Given the description of an element on the screen output the (x, y) to click on. 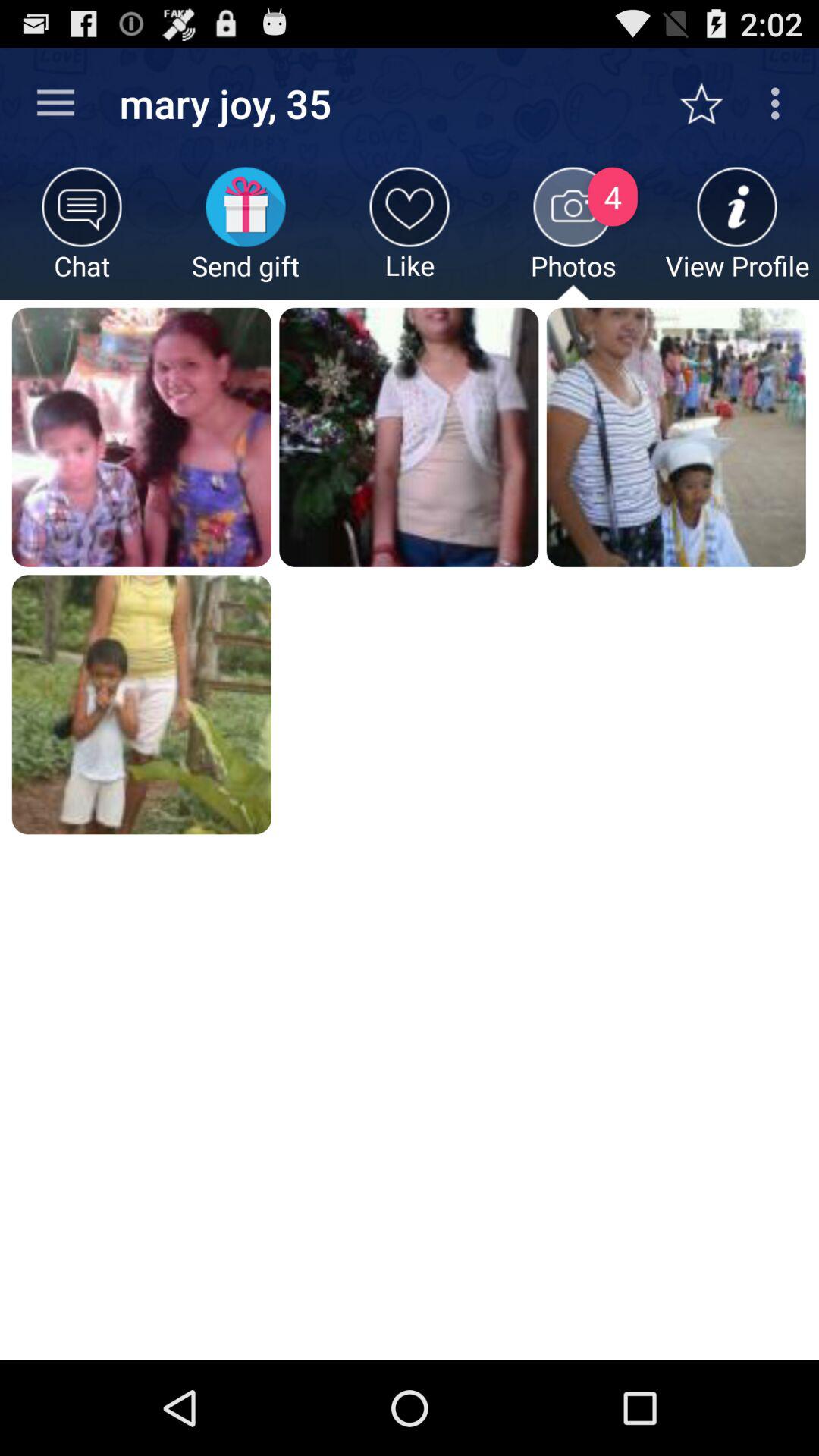
launch icon next to mary joy, 35 app (55, 103)
